Given the description of an element on the screen output the (x, y) to click on. 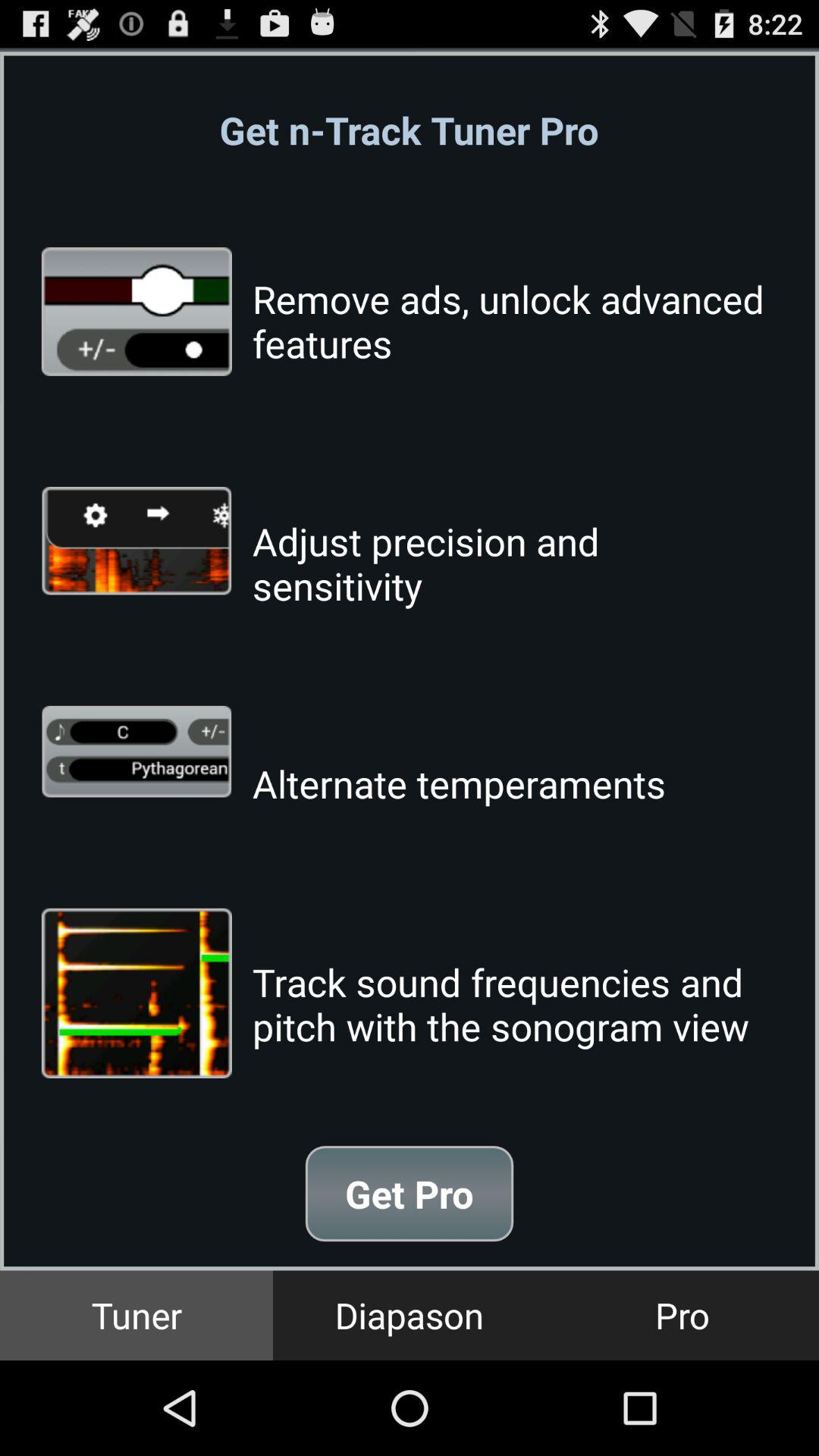
open the diapason (409, 1315)
